Given the description of an element on the screen output the (x, y) to click on. 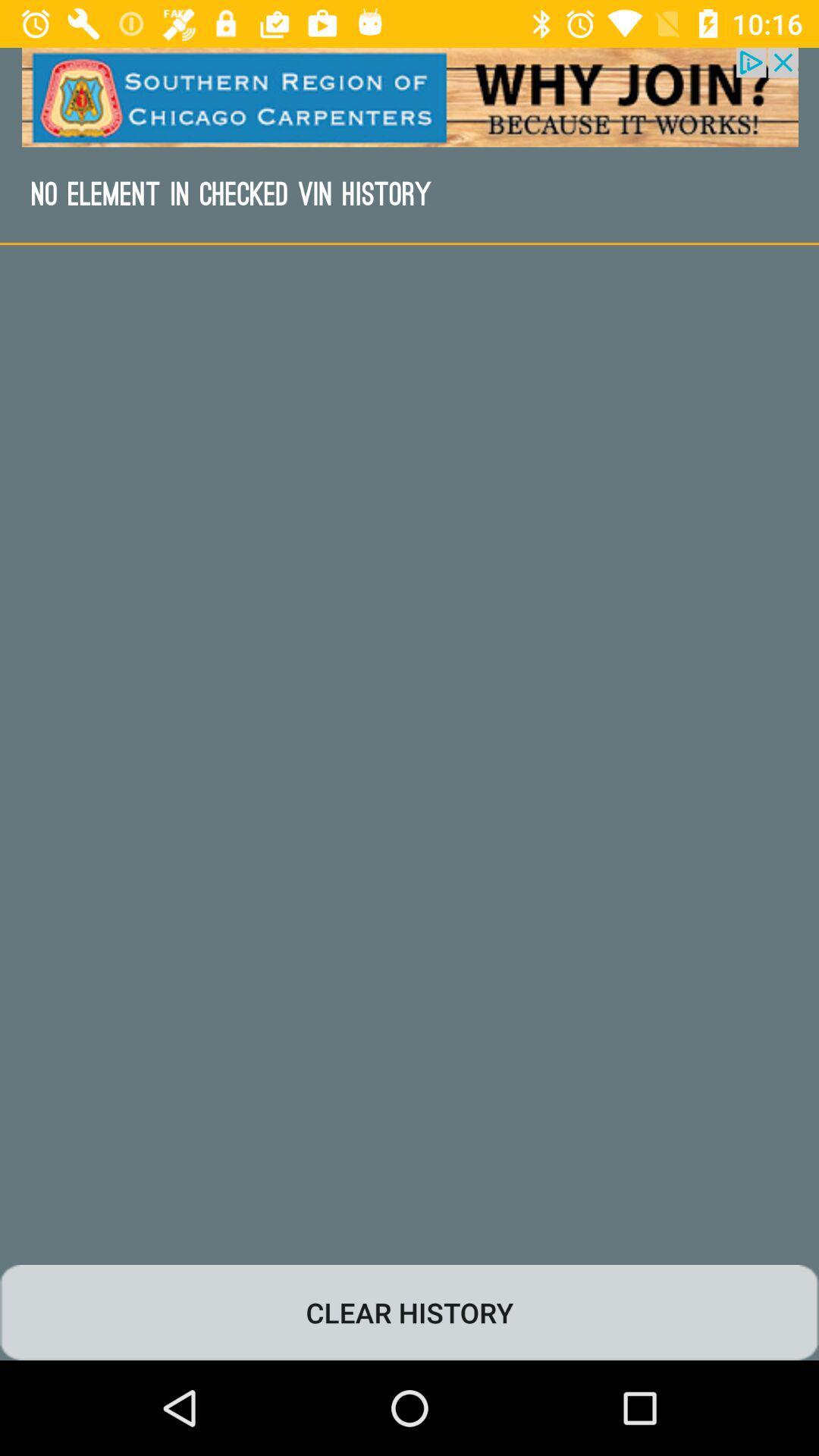
advertisement (409, 97)
